Given the description of an element on the screen output the (x, y) to click on. 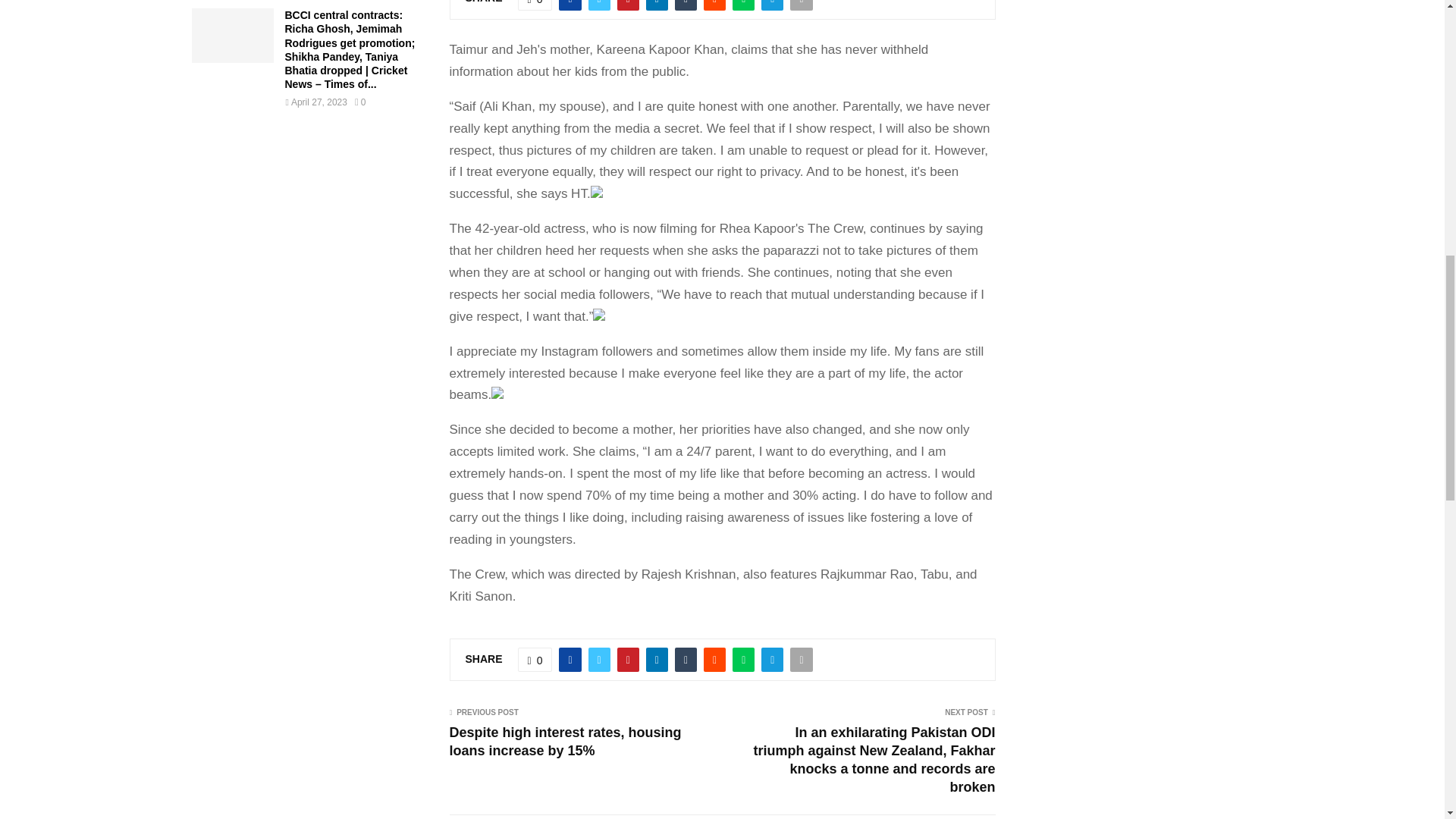
Like (535, 659)
Like (535, 5)
